Given the description of an element on the screen output the (x, y) to click on. 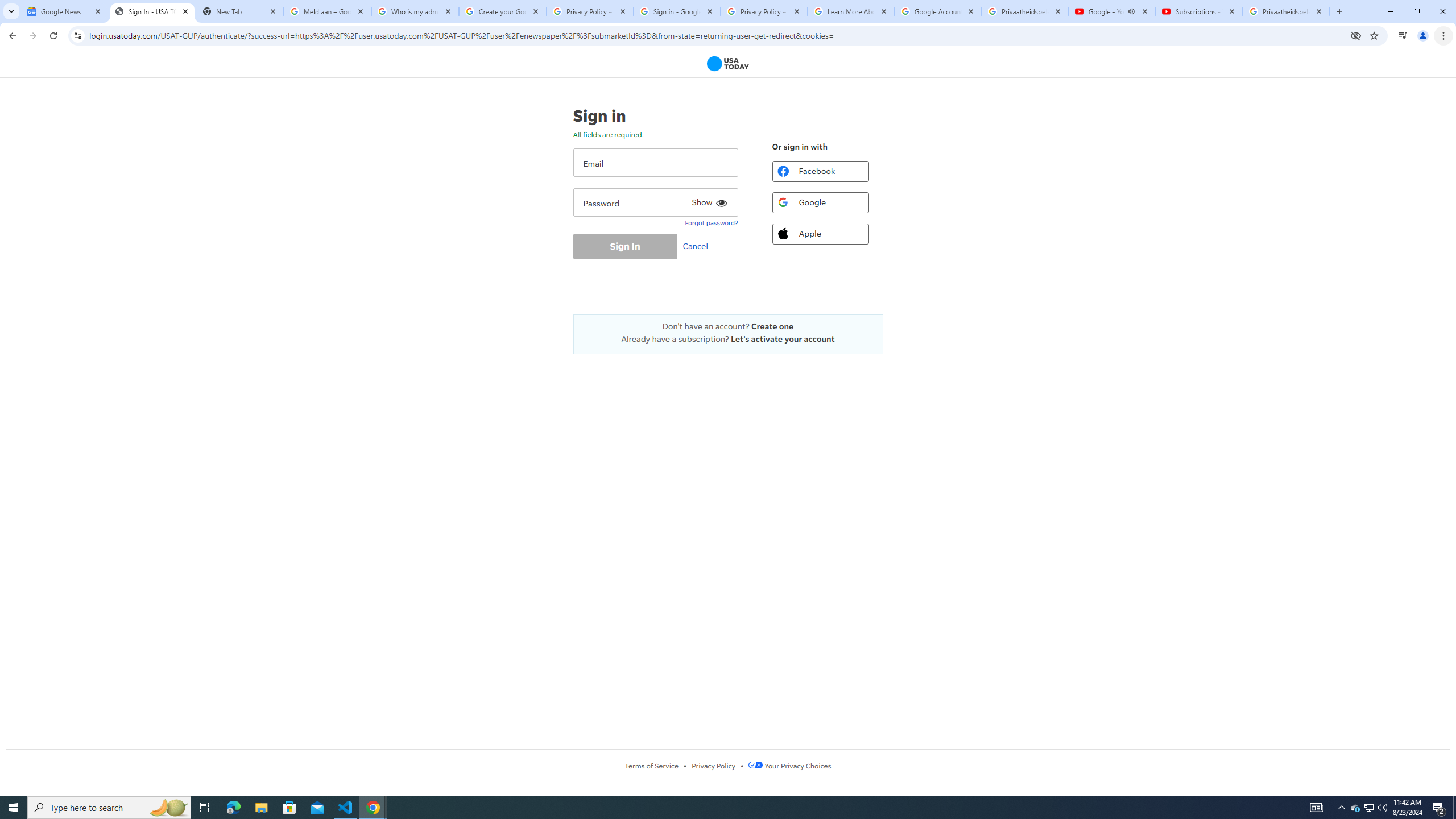
Subscriptions - YouTube (1198, 11)
Sign In - USA TODAY (151, 11)
Google - YouTube - Audio playing (1111, 11)
Minimize (1390, 11)
Search tabs (10, 11)
Back (10, 35)
Create your Google Account (502, 11)
Privacy Policy (713, 765)
Forgot password? (711, 221)
Google Account (938, 11)
Cancel (697, 245)
Forward (32, 35)
You (1422, 35)
